Given the description of an element on the screen output the (x, y) to click on. 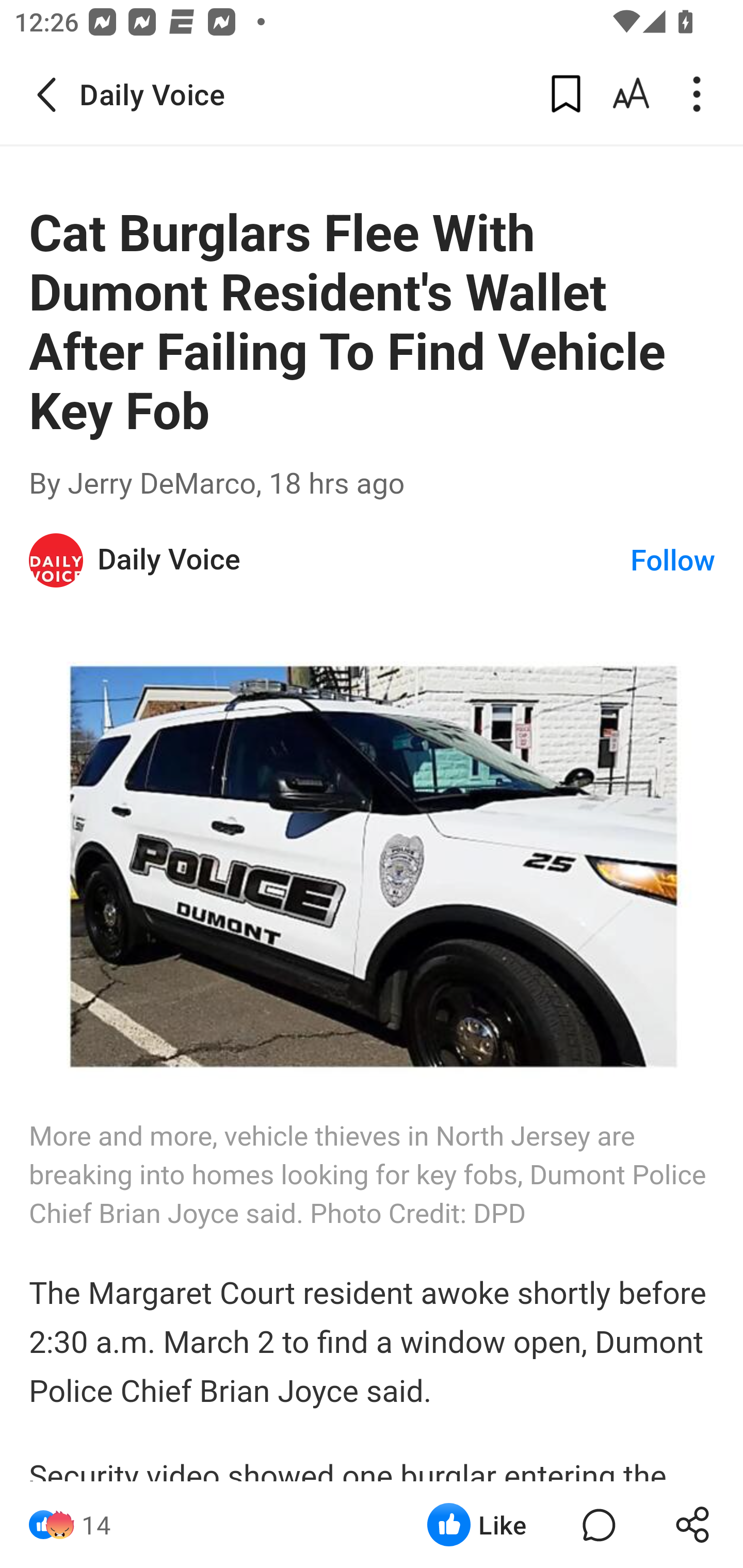
Daily (56, 560)
Daily Voice (364, 560)
Follow (673, 558)
14 (95, 1524)
Like (476, 1524)
